Given the description of an element on the screen output the (x, y) to click on. 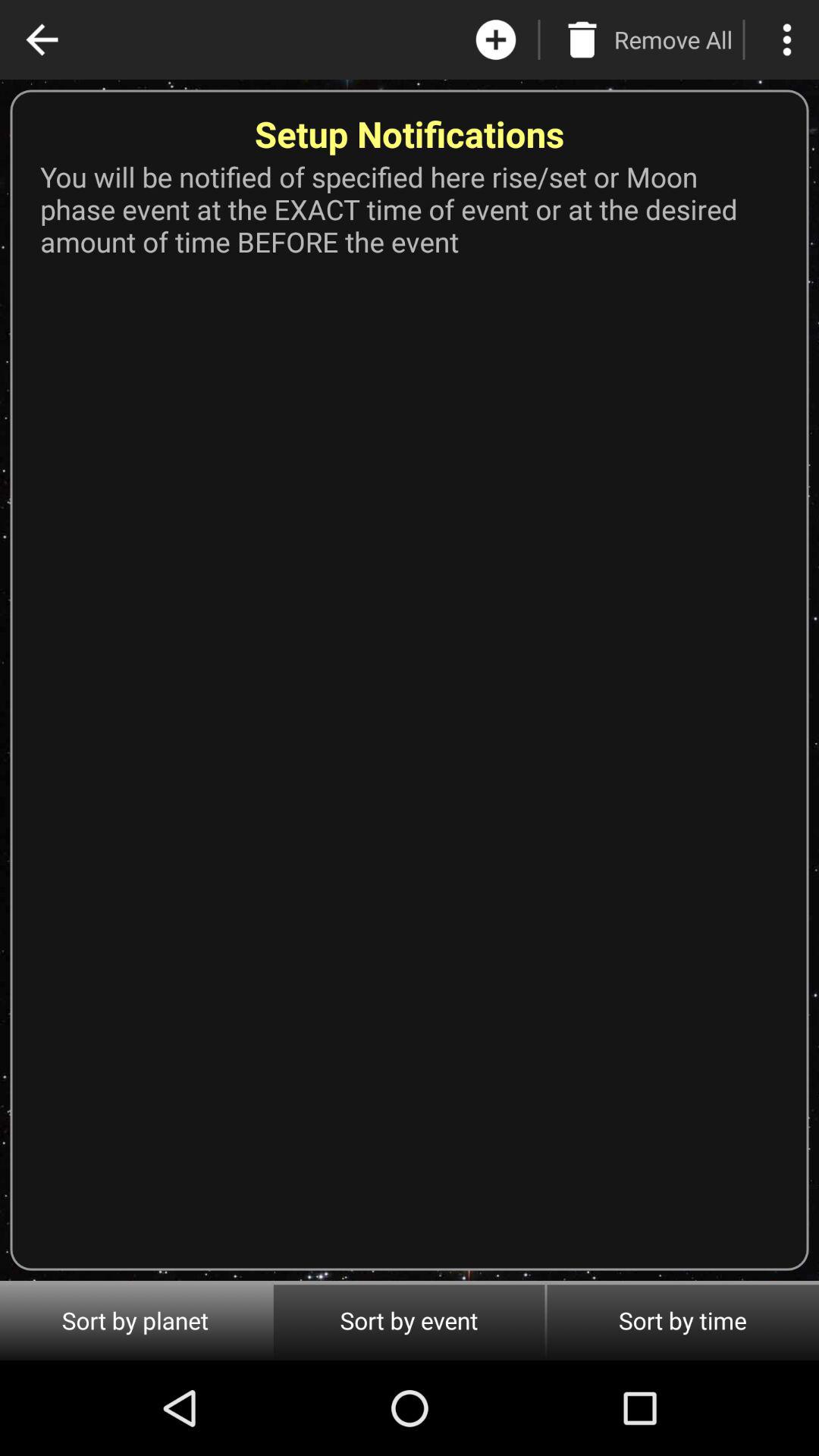
see the menu (787, 39)
